Given the description of an element on the screen output the (x, y) to click on. 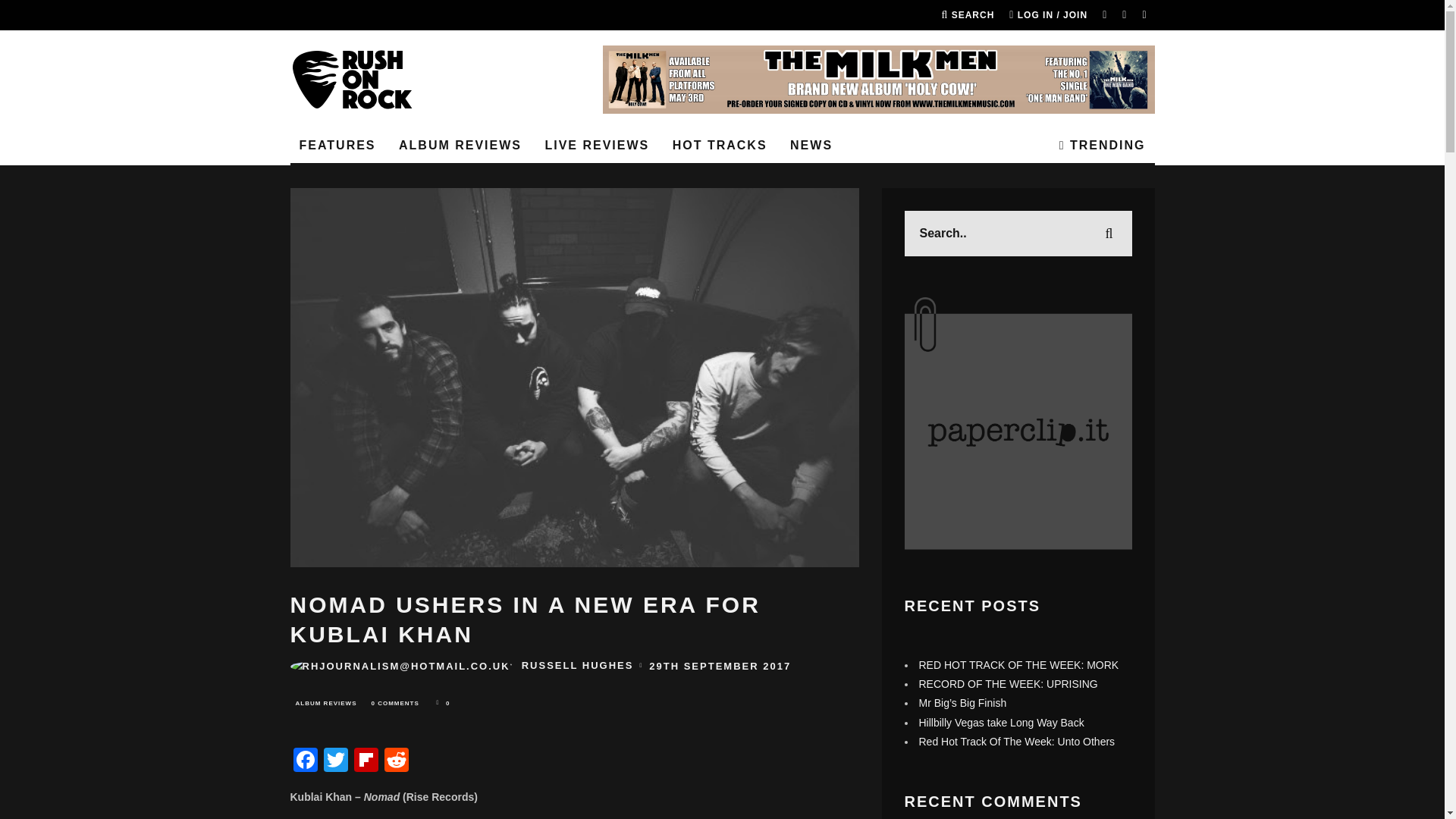
Search (968, 15)
Log In (721, 409)
View all posts in Album Reviews (325, 703)
Flipboard (365, 761)
ALBUM REVIEWS (460, 145)
LIVE REVIEWS (596, 145)
Facebook (304, 761)
Reddit (395, 761)
SEARCH (968, 15)
Twitter (335, 761)
FEATURES (336, 145)
